Given the description of an element on the screen output the (x, y) to click on. 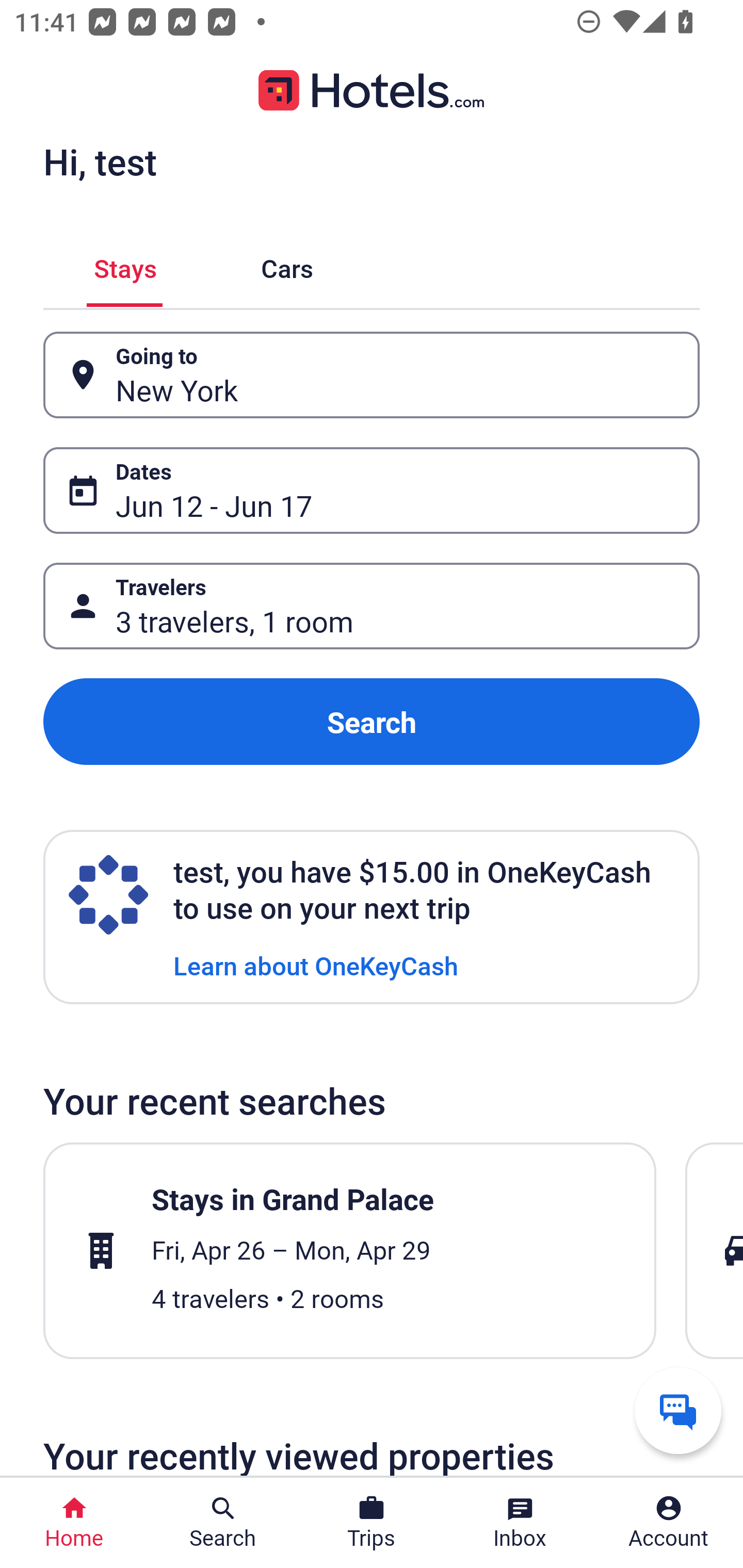
Hi, test (99, 161)
Cars (286, 265)
Going to Button New York (371, 375)
Dates Button Jun 12 - Jun 17 (371, 489)
Travelers Button 3 travelers, 1 room (371, 605)
Search (371, 721)
Learn about OneKeyCash Learn about OneKeyCash Link (315, 964)
Get help from a virtual agent (677, 1410)
Search Search Button (222, 1522)
Trips Trips Button (371, 1522)
Inbox Inbox Button (519, 1522)
Account Profile. Button (668, 1522)
